Given the description of an element on the screen output the (x, y) to click on. 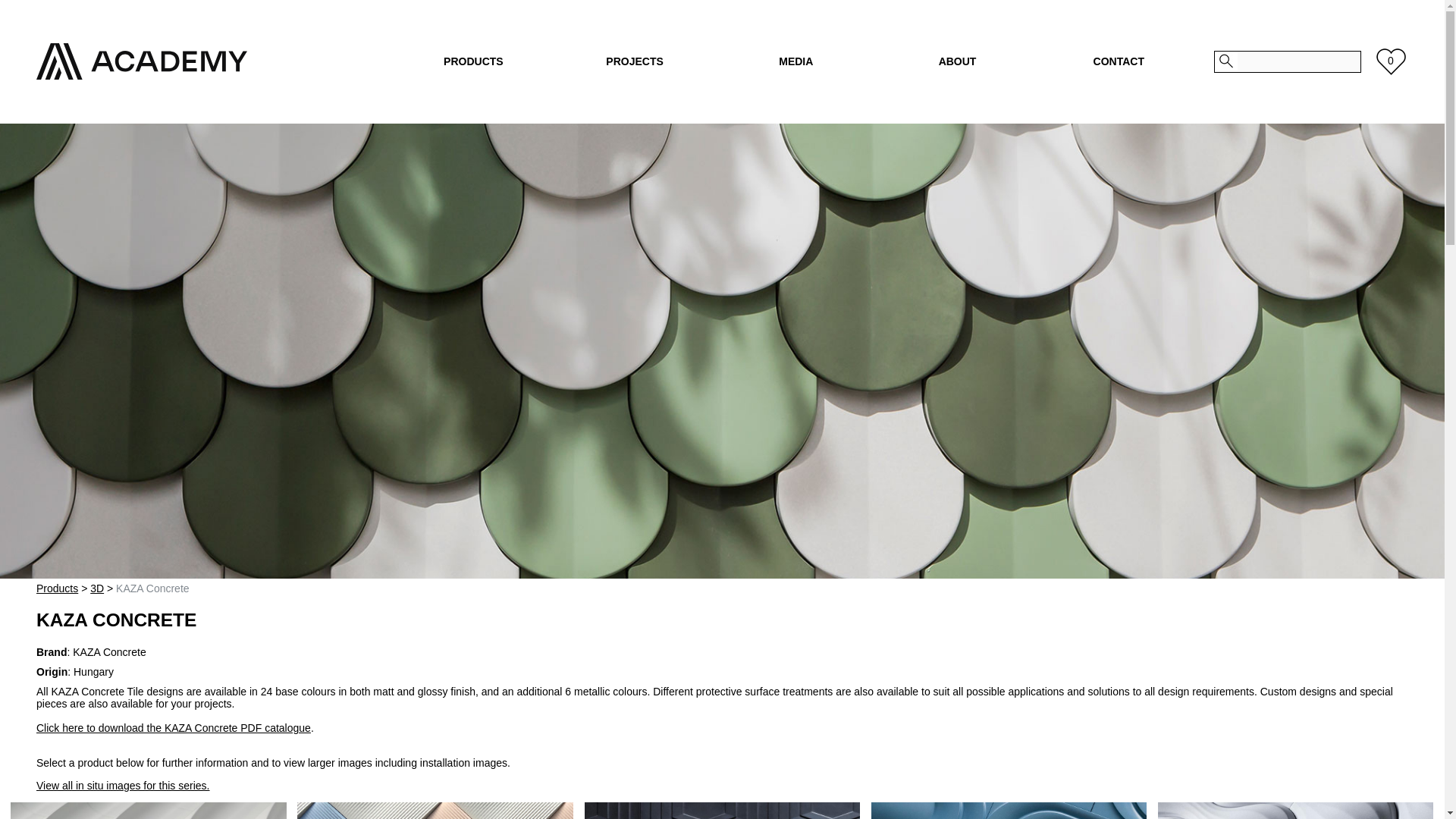
PROJECTS (635, 61)
PRODUCTS (473, 61)
ABOUT (957, 61)
CONTACT (1118, 61)
MEDIA (795, 61)
